Given the description of an element on the screen output the (x, y) to click on. 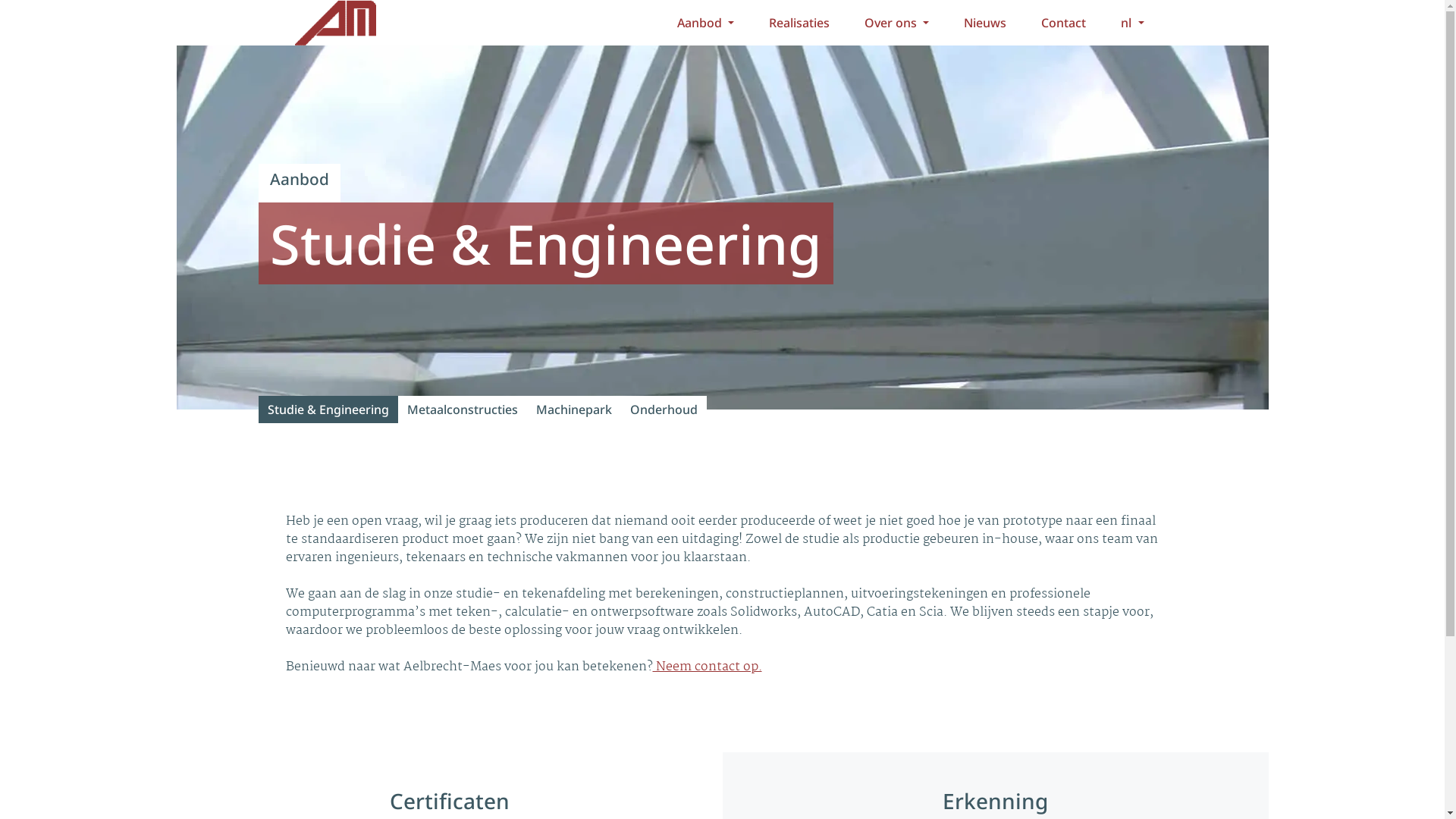
Nieuws Element type: text (984, 22)
Machinepark Element type: text (573, 409)
nl Element type: text (1131, 22)
 Neem contact op. Element type: text (706, 666)
Realisaties Element type: text (798, 22)
Contact Element type: text (1063, 22)
Metaalconstructies Element type: text (461, 409)
Aanbod Element type: text (705, 22)
Onderhoud Element type: text (663, 409)
Studie & Engineering Element type: text (327, 409)
Over ons Element type: text (896, 22)
